Given the description of an element on the screen output the (x, y) to click on. 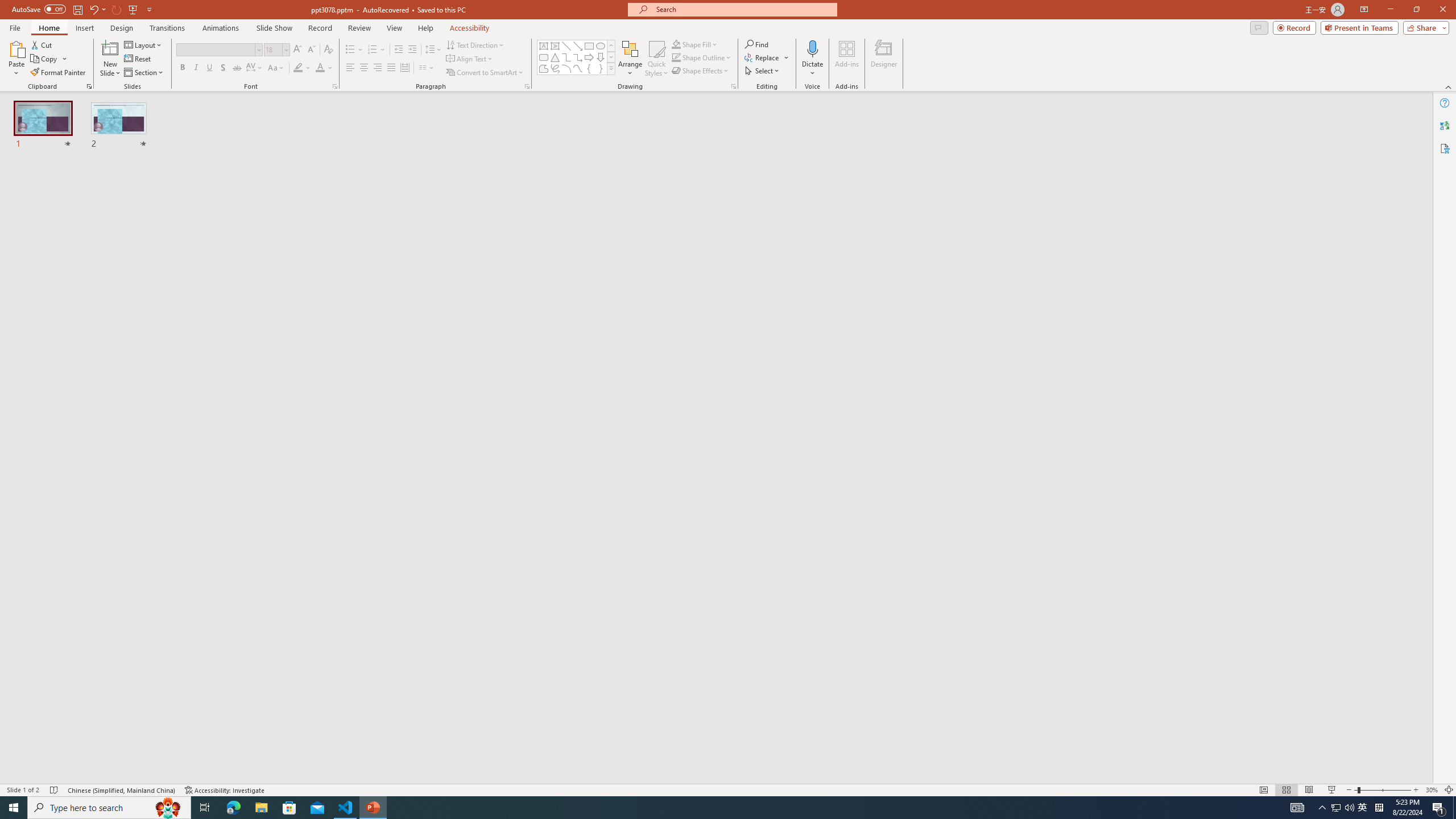
Align Text (470, 58)
Oval (600, 45)
Right Brace (600, 68)
Zoom 30% (1431, 790)
AutomationID: ShapesInsertGallery (576, 57)
